Given the description of an element on the screen output the (x, y) to click on. 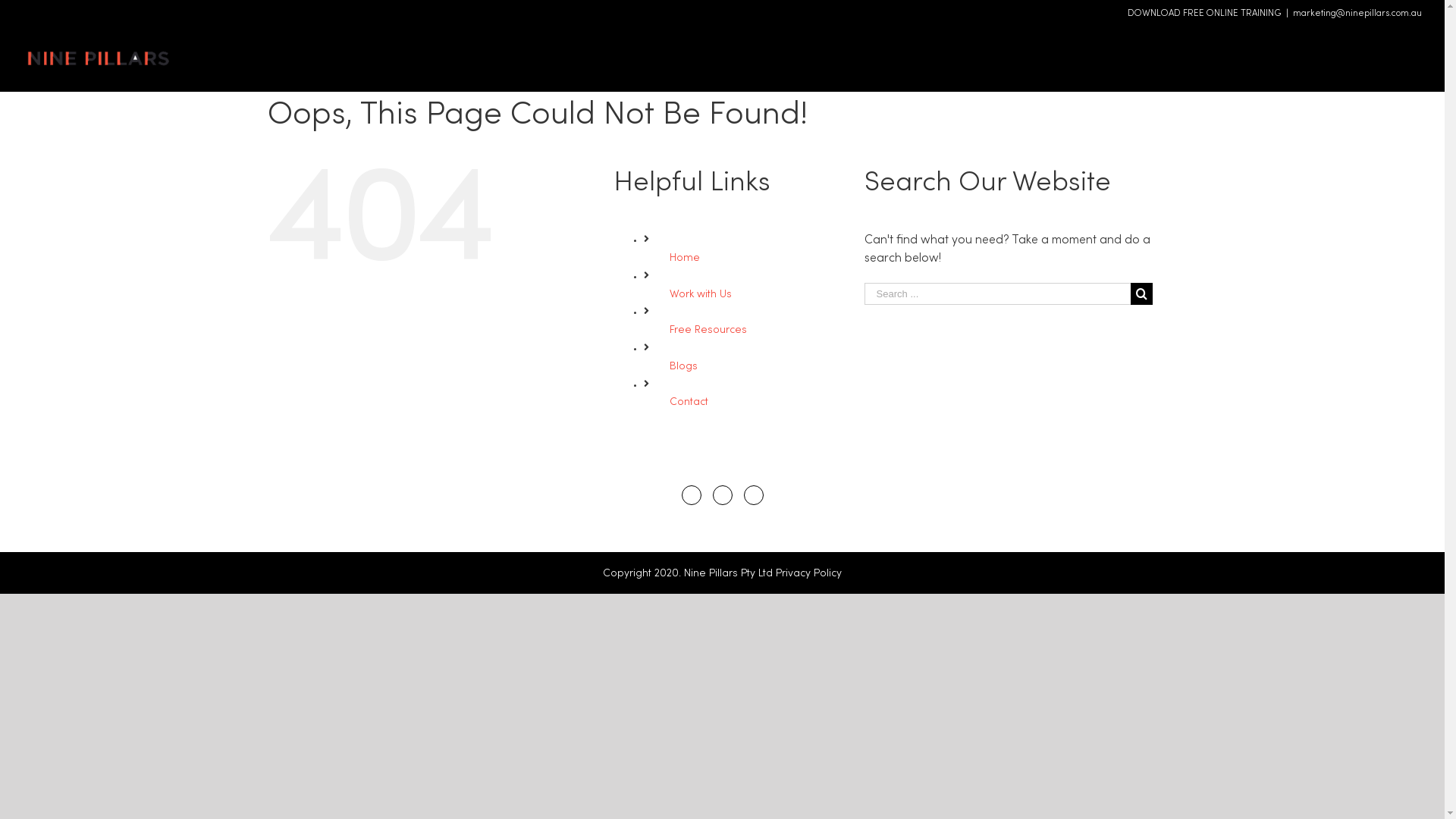
Privacy Policy Element type: text (808, 573)
Home Element type: text (1131, 48)
Free Resources Element type: text (1268, 48)
Contact Element type: text (1377, 48)
Free Resources Element type: text (707, 330)
Work with Us Element type: text (1185, 48)
Contact Element type: text (688, 402)
Instagram Element type: hover (722, 495)
Work with Us Element type: text (700, 294)
Toggle Sliding Bar Area Element type: text (1430, 13)
Blogs Element type: text (683, 366)
Blogs Element type: text (1336, 48)
Facebook Element type: hover (690, 495)
Home Element type: text (684, 258)
marketing@ninepillars.com.au Element type: text (1356, 13)
LinkedIn Element type: hover (752, 495)
Search Element type: hover (1409, 48)
